Given the description of an element on the screen output the (x, y) to click on. 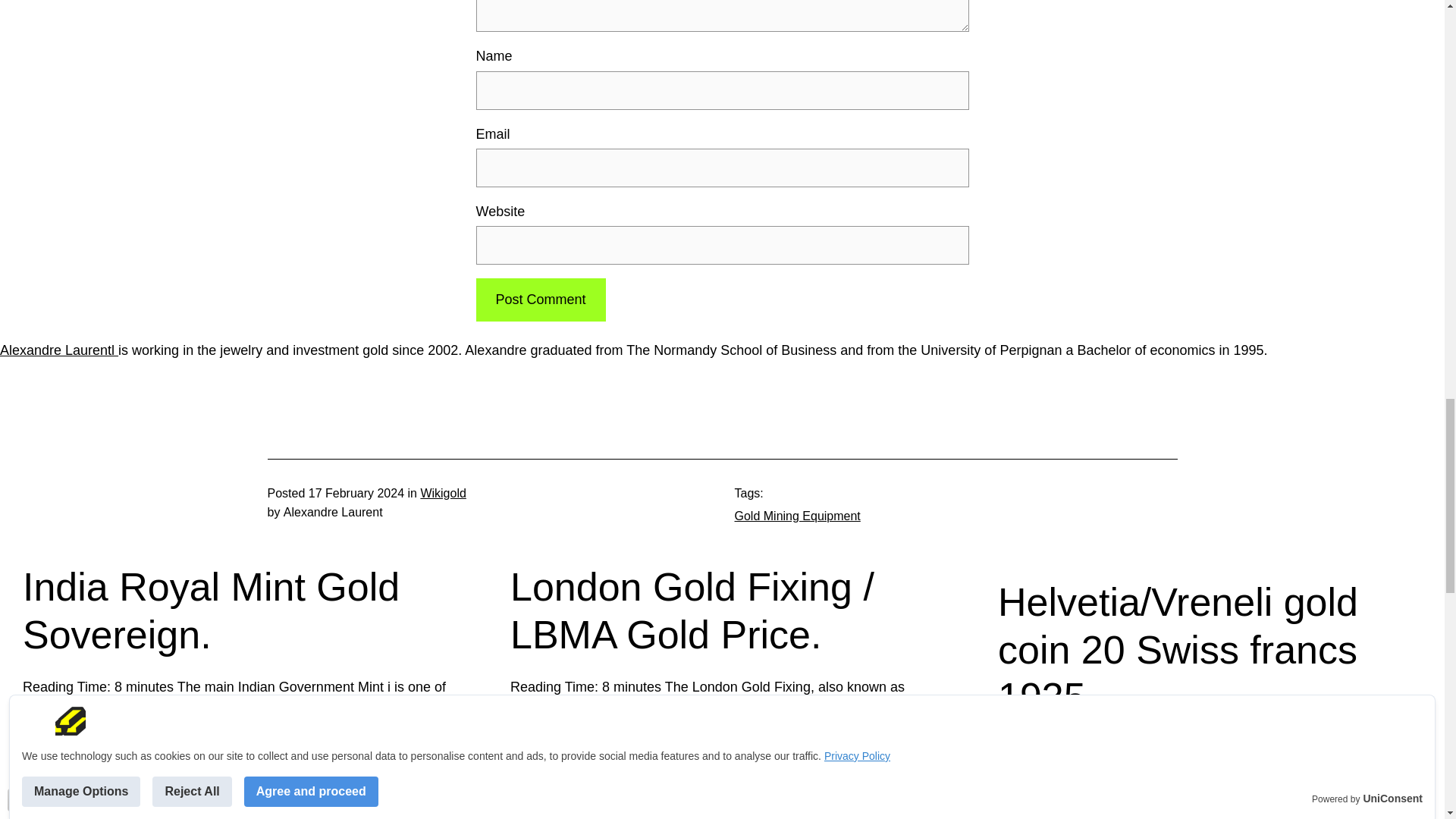
Post Comment (540, 299)
Wikigold (442, 492)
Post Comment (540, 299)
India Royal Mint Gold Sovereign. (234, 610)
Alexandre Laurentl (58, 350)
Gold Mining Equipment (796, 515)
